Given the description of an element on the screen output the (x, y) to click on. 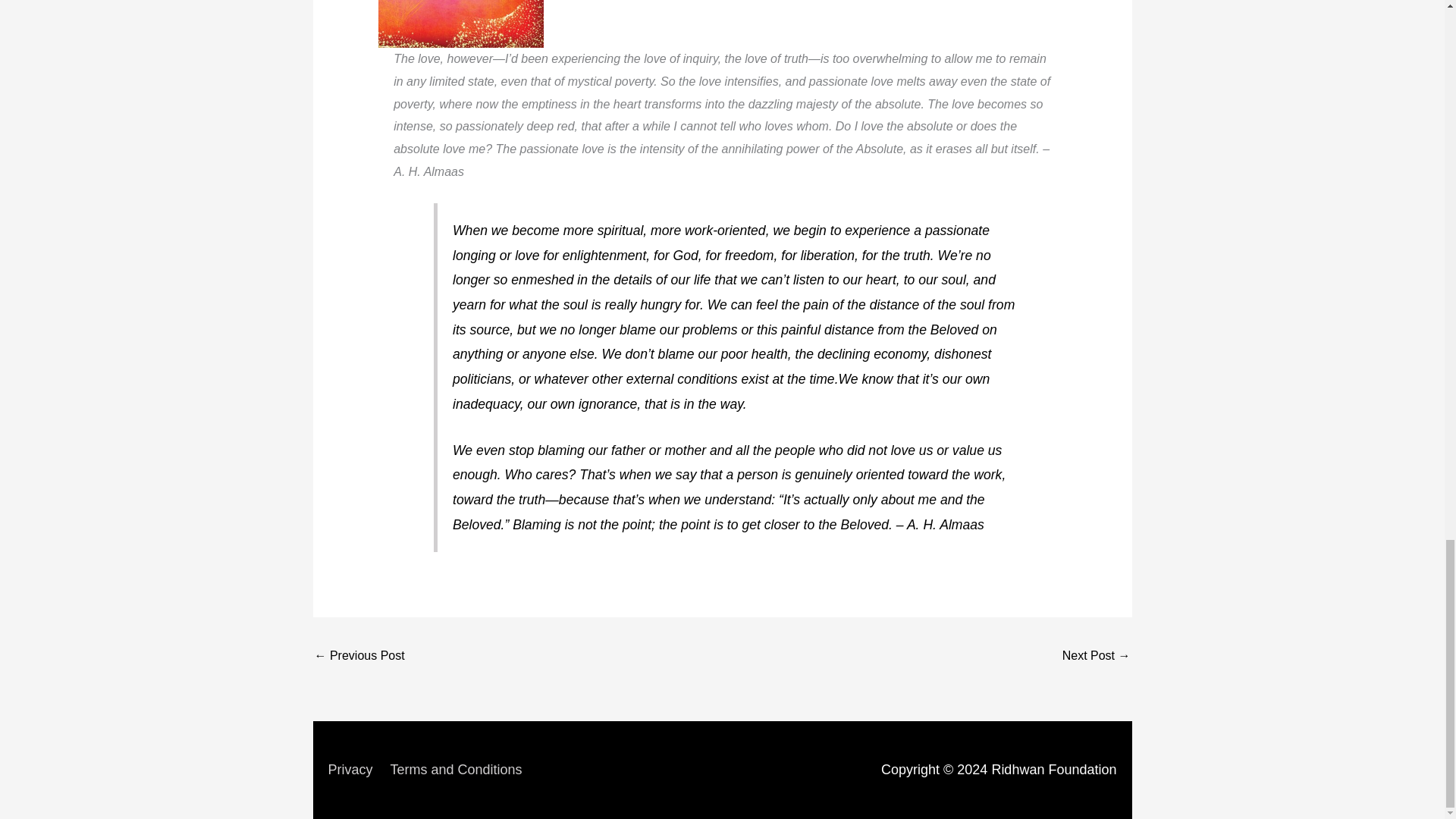
The Truth Prevails Over Office Politics (1096, 656)
Terms and Conditions (462, 769)
Buddhism and the Soul: Part 4 (359, 656)
Privacy (356, 769)
